Given the description of an element on the screen output the (x, y) to click on. 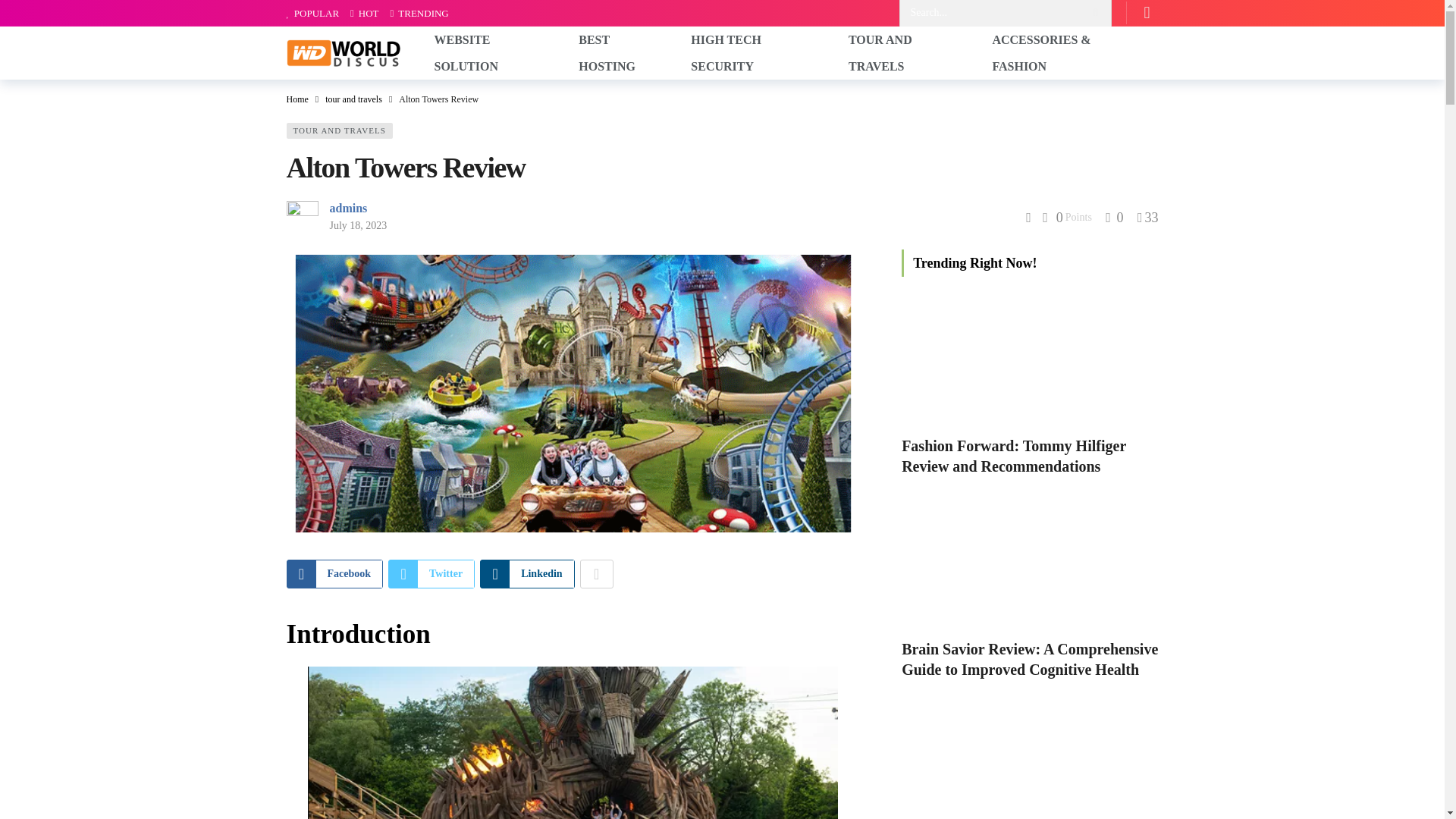
TOUR AND TRAVELS (339, 130)
Home (297, 99)
HIGH TECH SECURITY (758, 52)
Facebook (335, 573)
0 (1113, 217)
BEST HOSTING (623, 52)
TOUR AND TRAVELS (908, 52)
Fashion Forward: Tommy Hilfiger Review and Recommendations (1013, 456)
WEBSITE SOLUTION (495, 52)
